Given the description of an element on the screen output the (x, y) to click on. 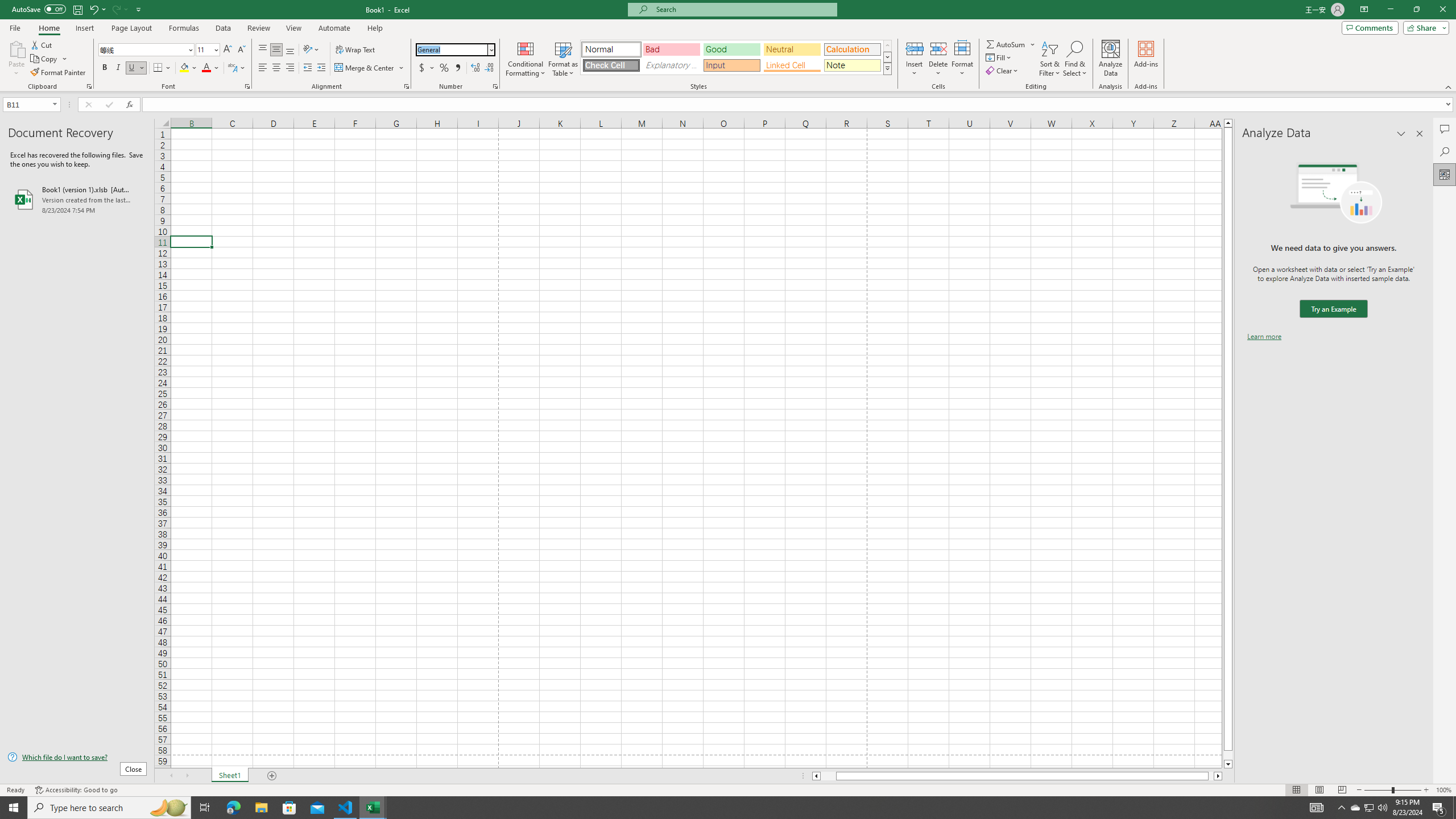
Linked Cell (791, 65)
Orientation (311, 49)
Format Cell Number (494, 85)
Wrap Text (355, 49)
Show Phonetic Field (231, 67)
Paste (16, 48)
Comma Style (457, 67)
Copy (45, 58)
